Given the description of an element on the screen output the (x, y) to click on. 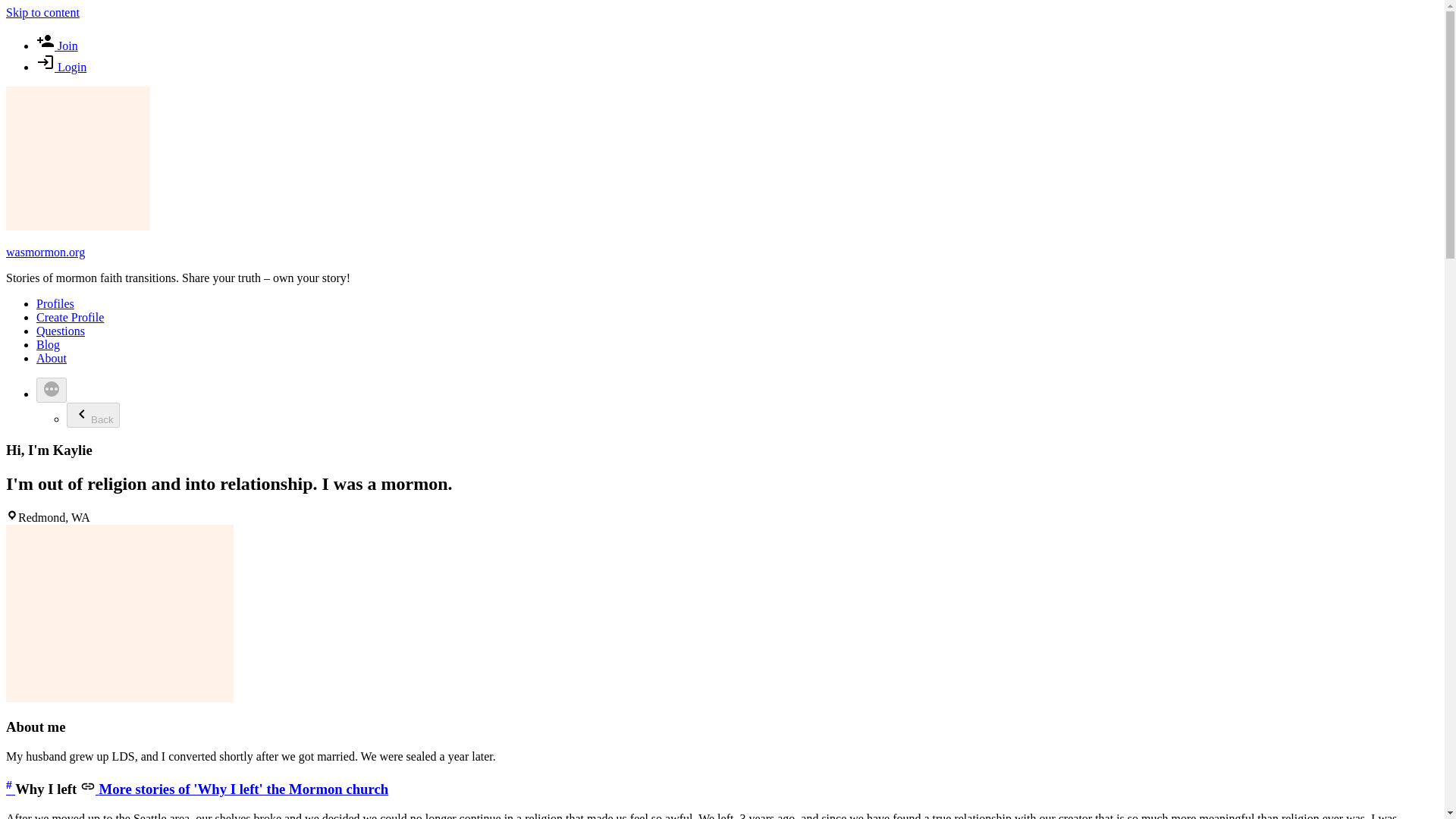
About (51, 358)
Skip to content (42, 11)
Join (57, 45)
Back (92, 414)
More stories of 'Why I left' the Mormon church (234, 788)
Create Profile (69, 317)
wasmormon.org (44, 251)
Questions (60, 330)
Profiles (55, 303)
More stories of 'Why I left' the Mormon church (234, 788)
